Given the description of an element on the screen output the (x, y) to click on. 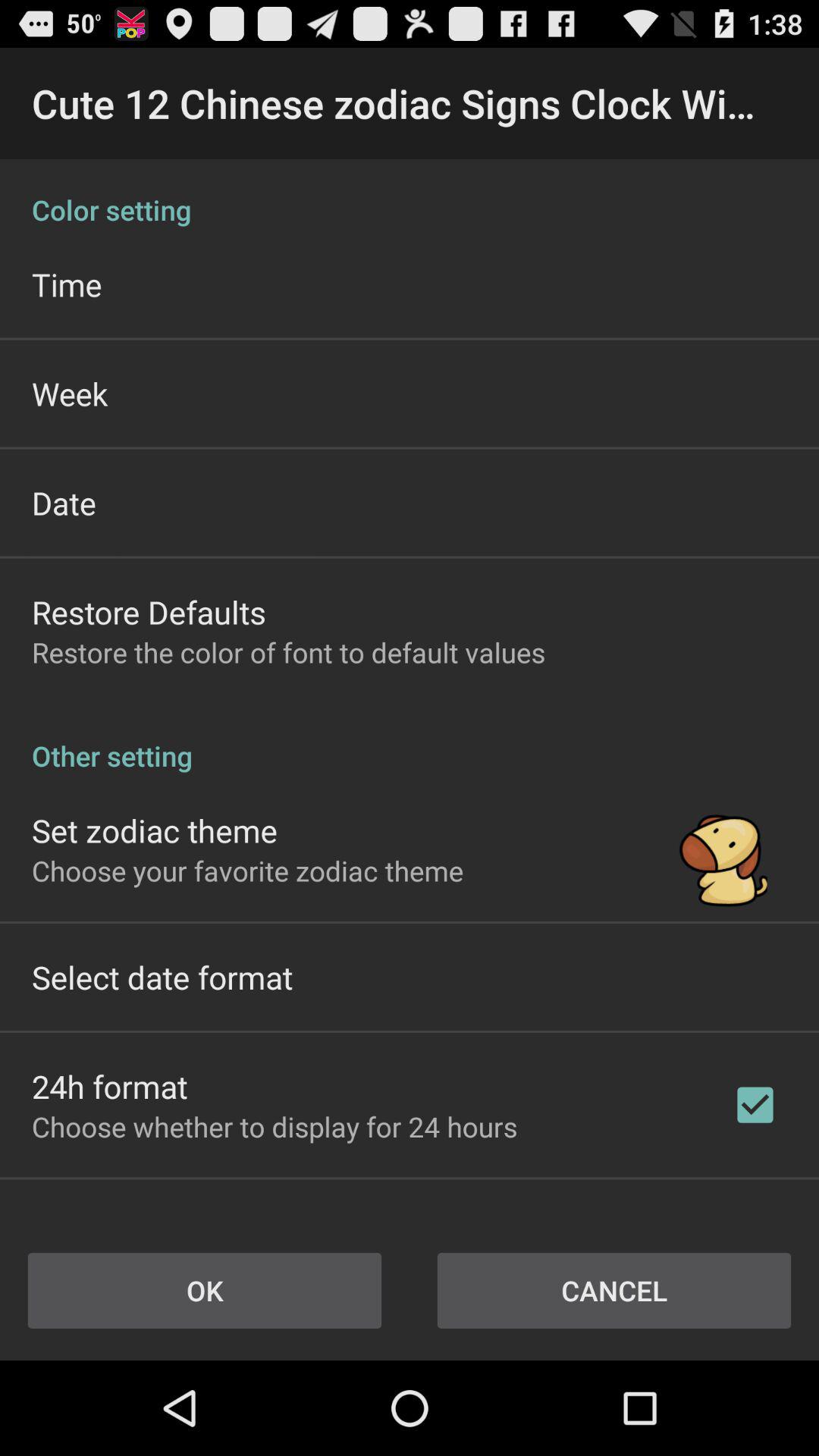
tap cancel button (614, 1290)
